Given the description of an element on the screen output the (x, y) to click on. 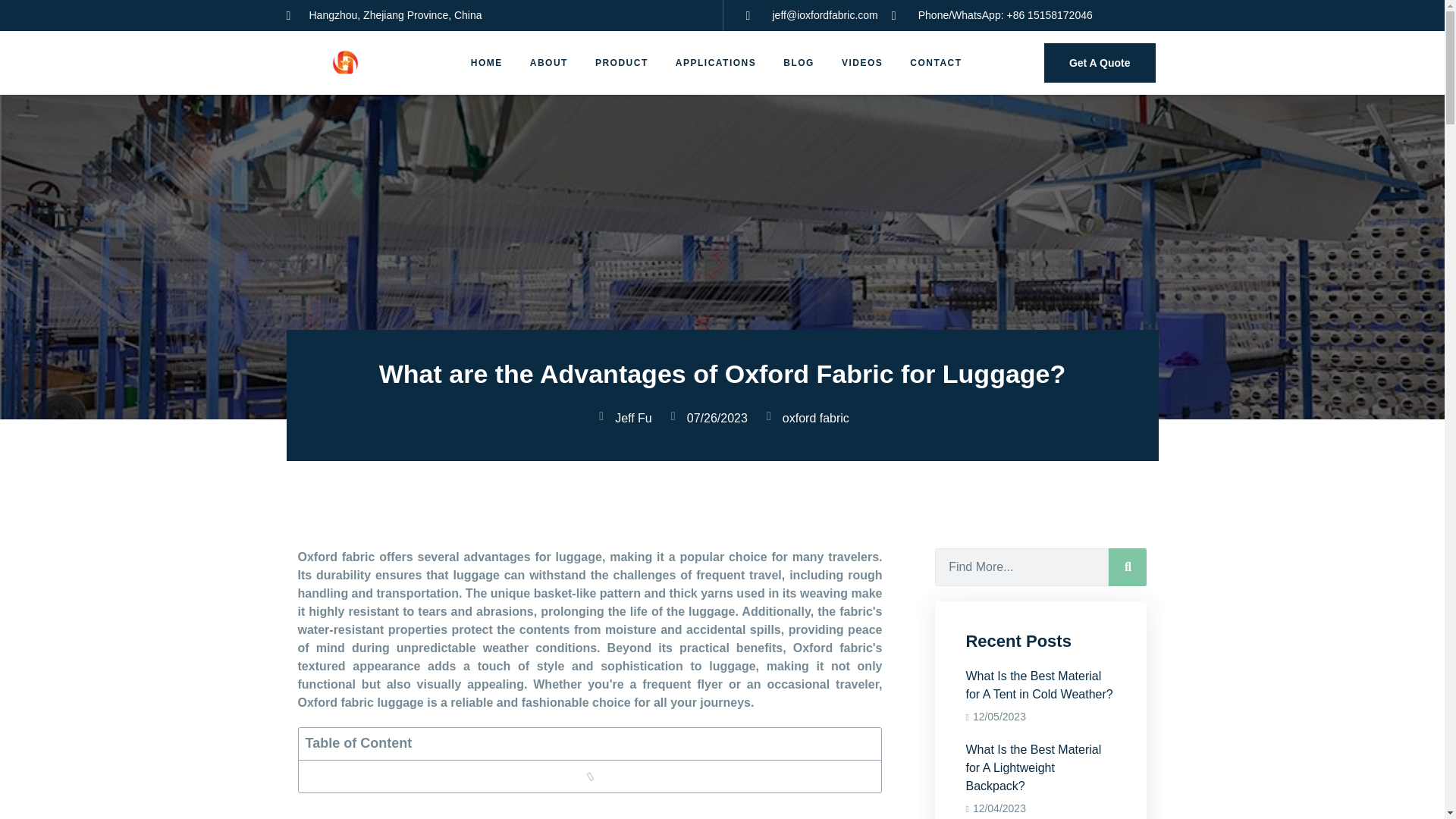
ABOUT (716, 63)
Get A Quote (548, 63)
PRODUCT (1090, 62)
Recent Posts (621, 63)
oxford fabric (1040, 641)
Jeff Fu (811, 423)
What are the Advantages of Oxford Fabric for Luggage? (629, 423)
Table of Content (722, 372)
